Given the description of an element on the screen output the (x, y) to click on. 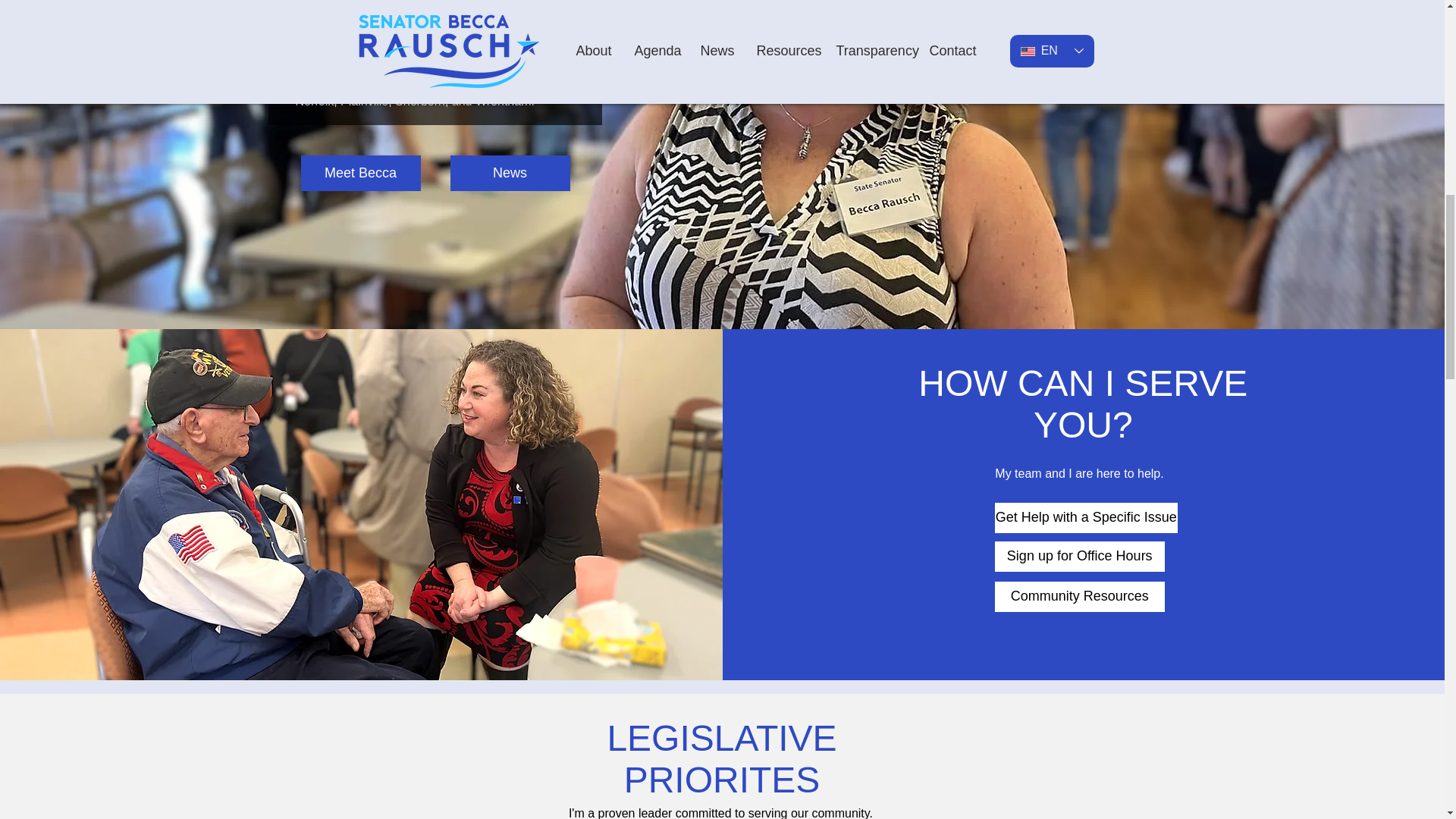
News (509, 172)
Sign up for Office Hours (1079, 556)
Get Help with a Specific Issue (1085, 517)
Meet Becca (359, 172)
